Given the description of an element on the screen output the (x, y) to click on. 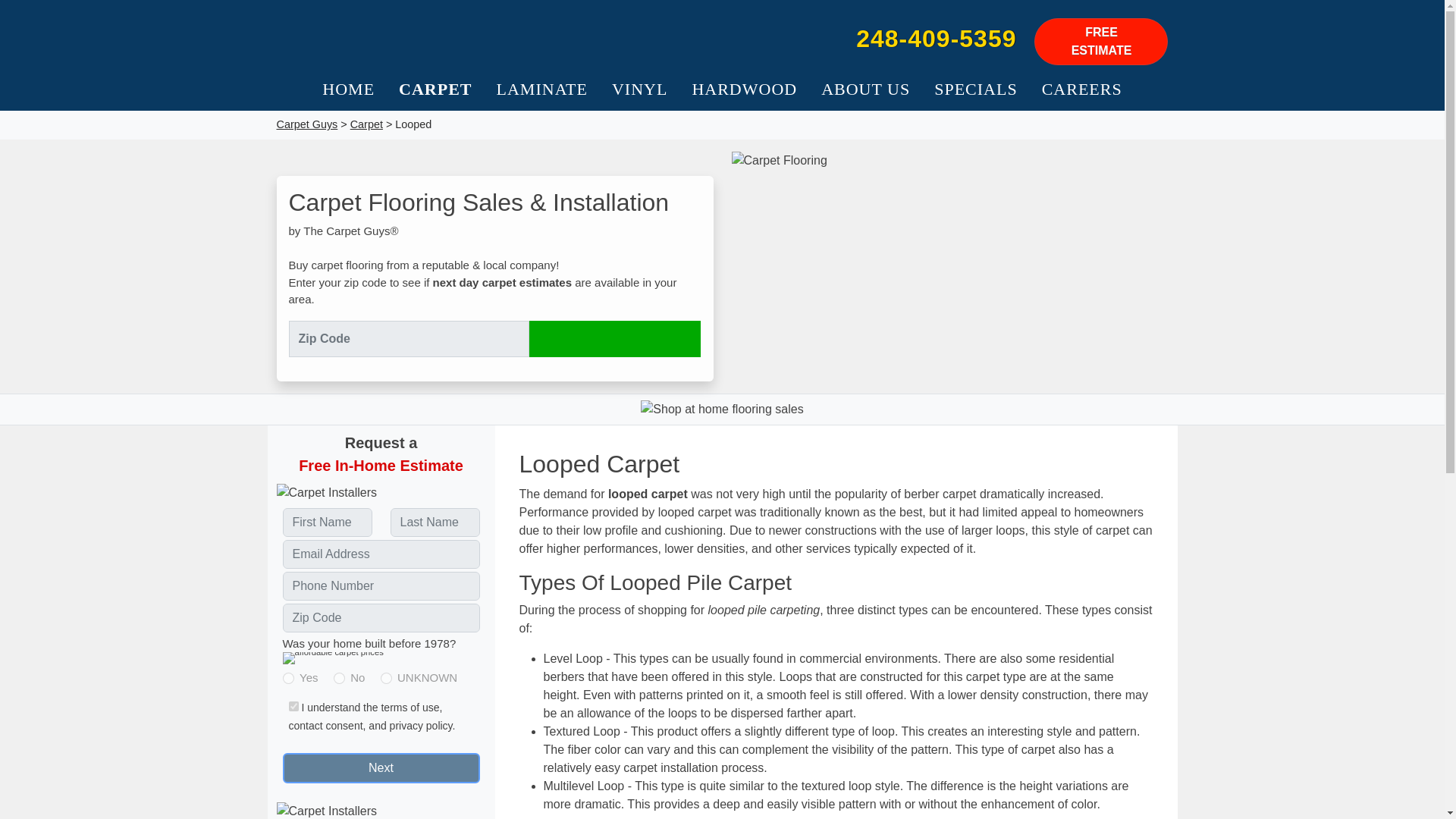
FREE ESTIMATE (1100, 41)
yes (288, 677)
LAMINATE (541, 89)
HOME (348, 89)
ABOUT US (865, 89)
terms of use (409, 707)
SPECIALS (975, 89)
Carpet Guys (494, 38)
contact consent (325, 725)
yes (293, 706)
CARPET (435, 89)
HARDWOOD (744, 89)
UNKNOWN (385, 677)
Carpet (366, 123)
